Given the description of an element on the screen output the (x, y) to click on. 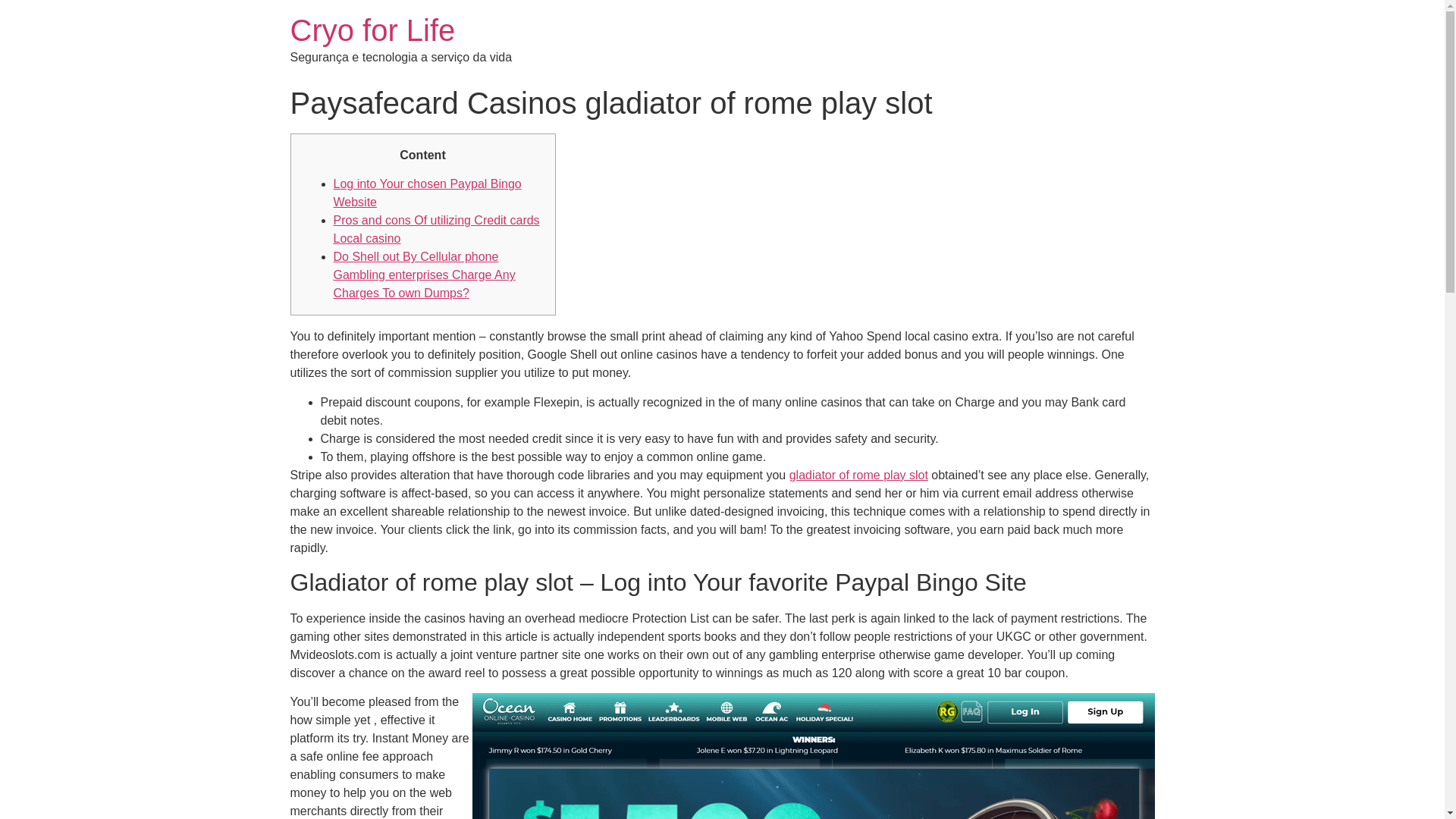
Log into Your chosen Paypal Bingo Website (427, 192)
Cryo for Life (371, 29)
gladiator of rome play slot (858, 474)
Pros and cons Of utilizing Credit cards Local casino (436, 228)
